Given the description of an element on the screen output the (x, y) to click on. 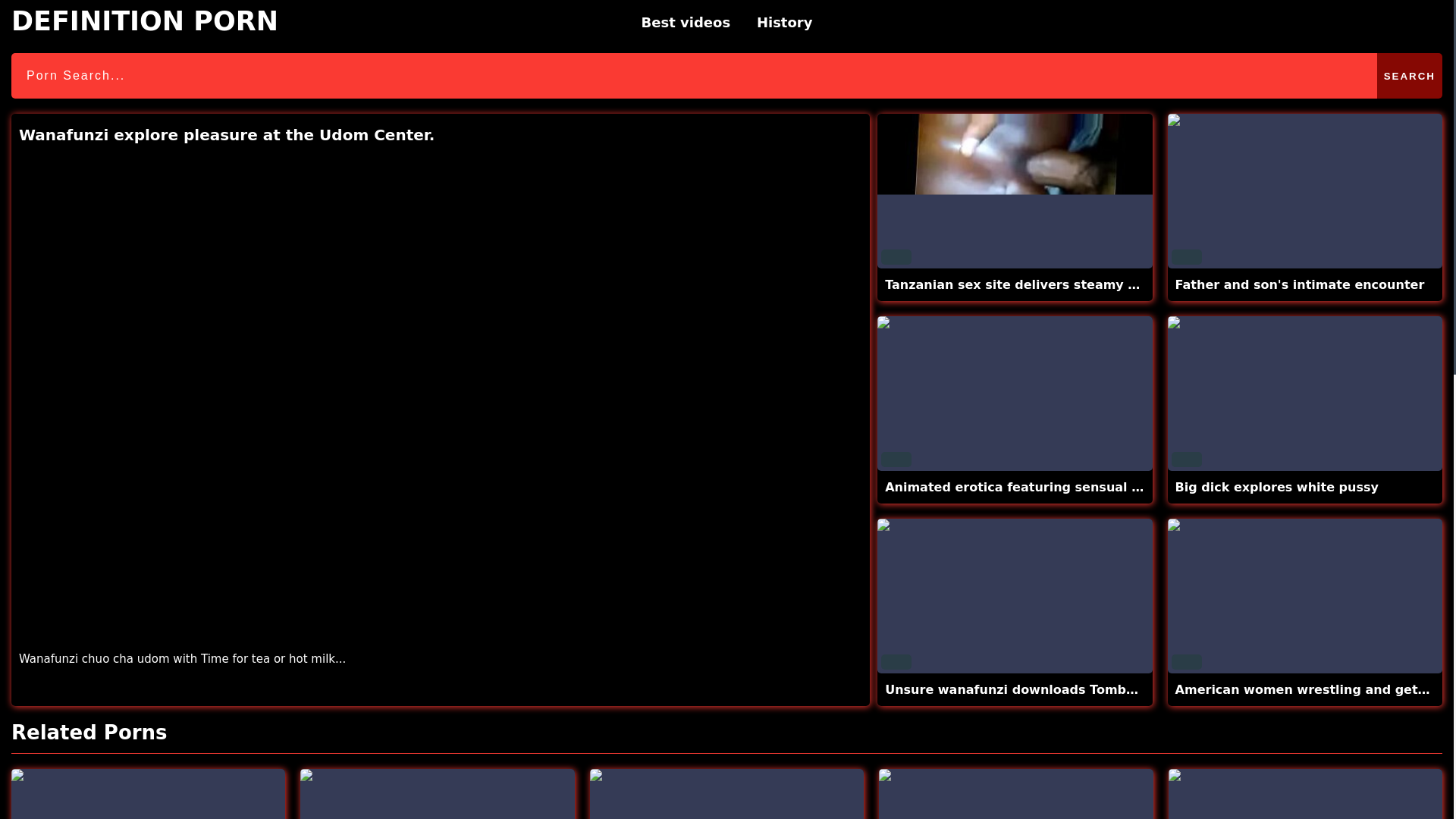
Father and son's intimate encounter (1299, 284)
DEFINITION PORN (144, 21)
18-year-old girl engages in steamy sexual encounters. (436, 794)
American women wrestling and getting naughty. (1304, 595)
Unsure wanafunzi downloads Tombana's stunning performance. (1103, 689)
Unsure wanafunzi downloads Tombana's stunning performance. (1103, 689)
SEARCH (1409, 75)
History (784, 22)
Tanzanian sex site delivers steamy content and excitement. (1090, 284)
Home (144, 21)
Father and son's intimate encounter (1299, 284)
Unsure wanafunzi downloads Tombana's stunning performance. (1014, 595)
Tanzanian sex site delivers steamy content and excitement. (1014, 190)
Lesbians have fun among the guys. (148, 794)
